Given the description of an element on the screen output the (x, y) to click on. 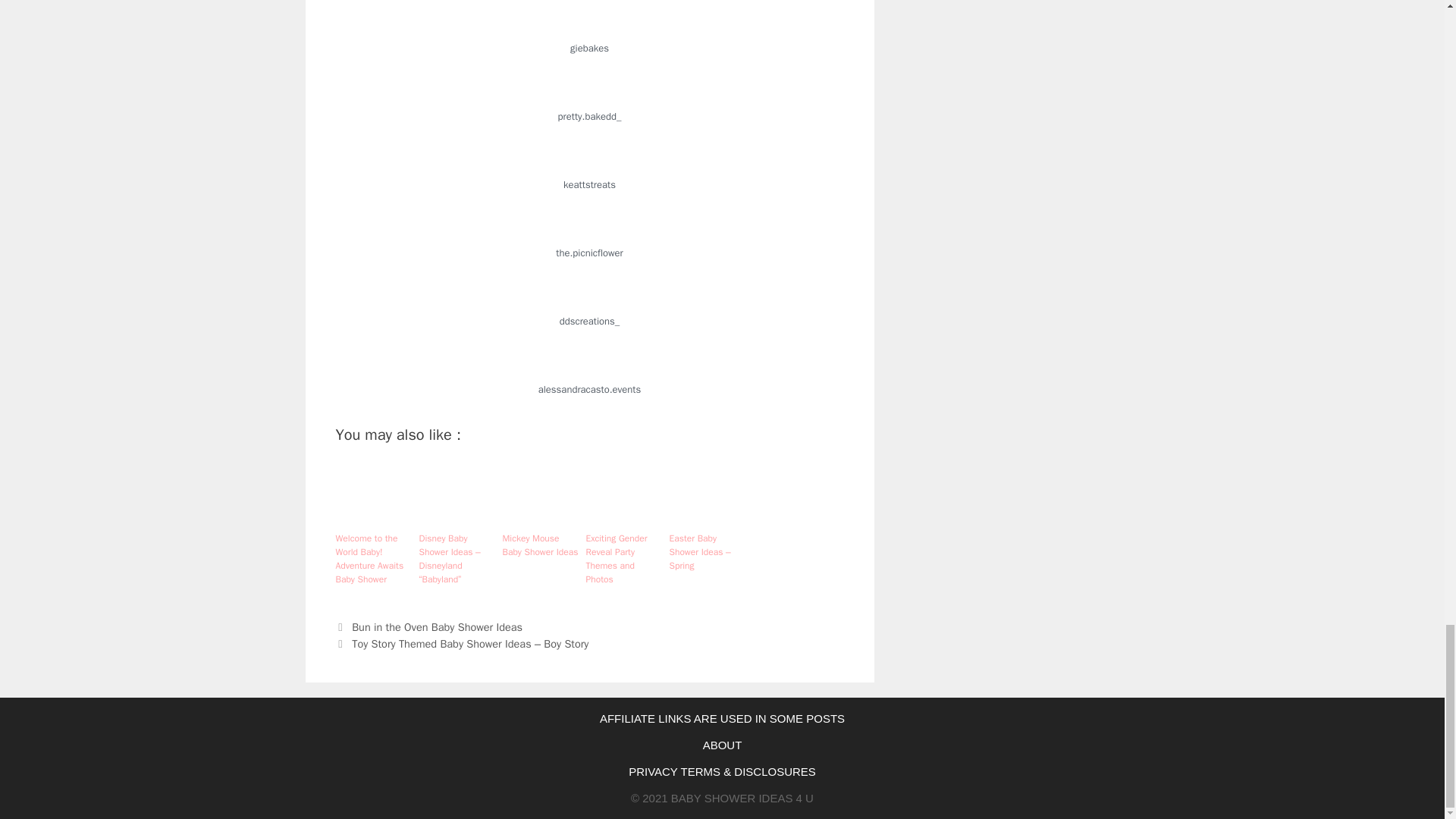
Welcome to the World Baby! Adventure Awaits Baby Shower (372, 558)
Previous (428, 626)
Mickey Mouse Baby Shower Ideas (540, 544)
Next (461, 643)
